Given the description of an element on the screen output the (x, y) to click on. 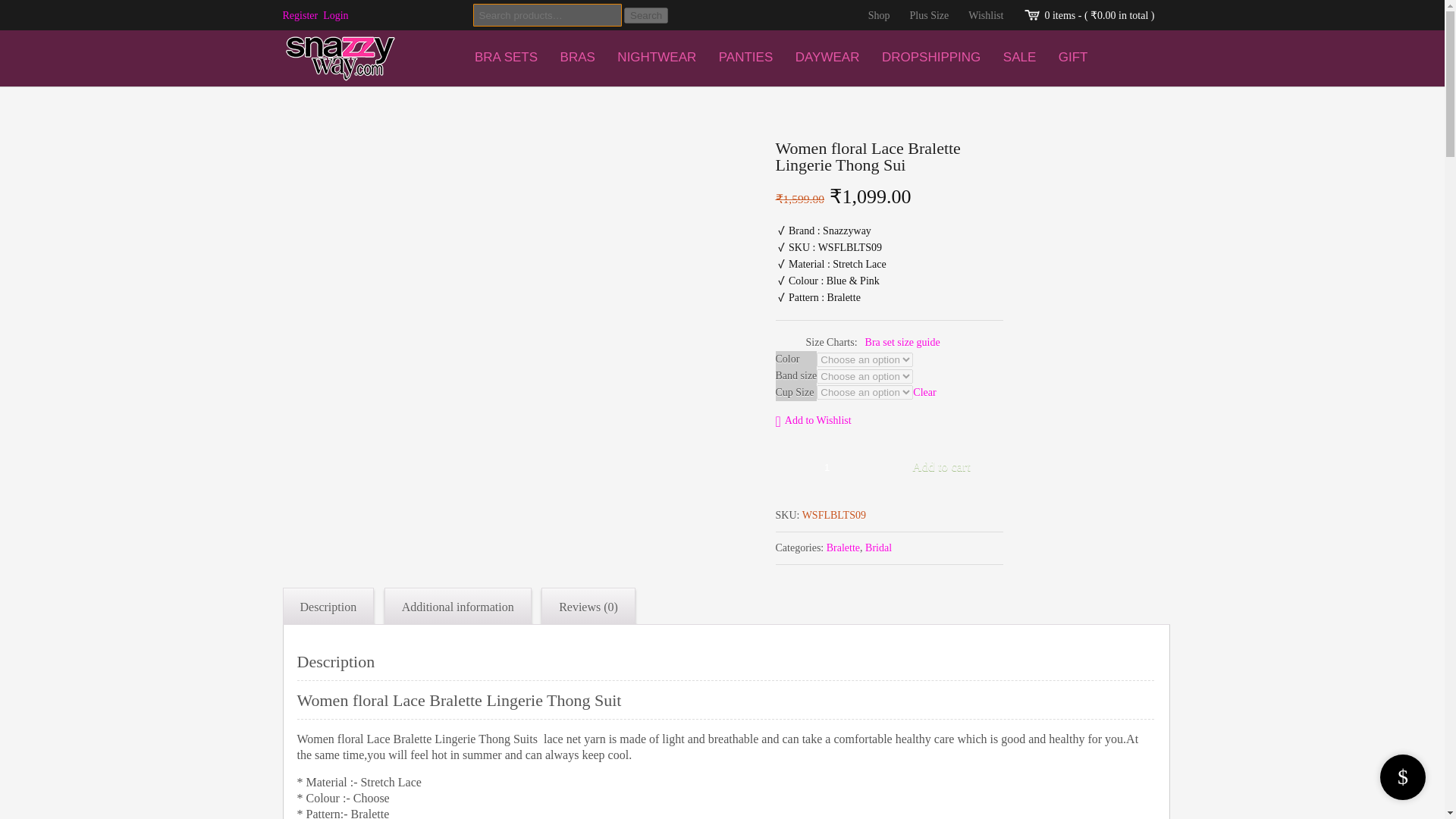
Plus Size (929, 15)
Login (335, 15)
NIGHTWEAR (656, 57)
PANTIES (746, 57)
BRAS (577, 57)
BRA SETS (505, 57)
Wishlist (986, 15)
Search (646, 15)
View your shopping cart (1098, 15)
Shop (879, 15)
